Given the description of an element on the screen output the (x, y) to click on. 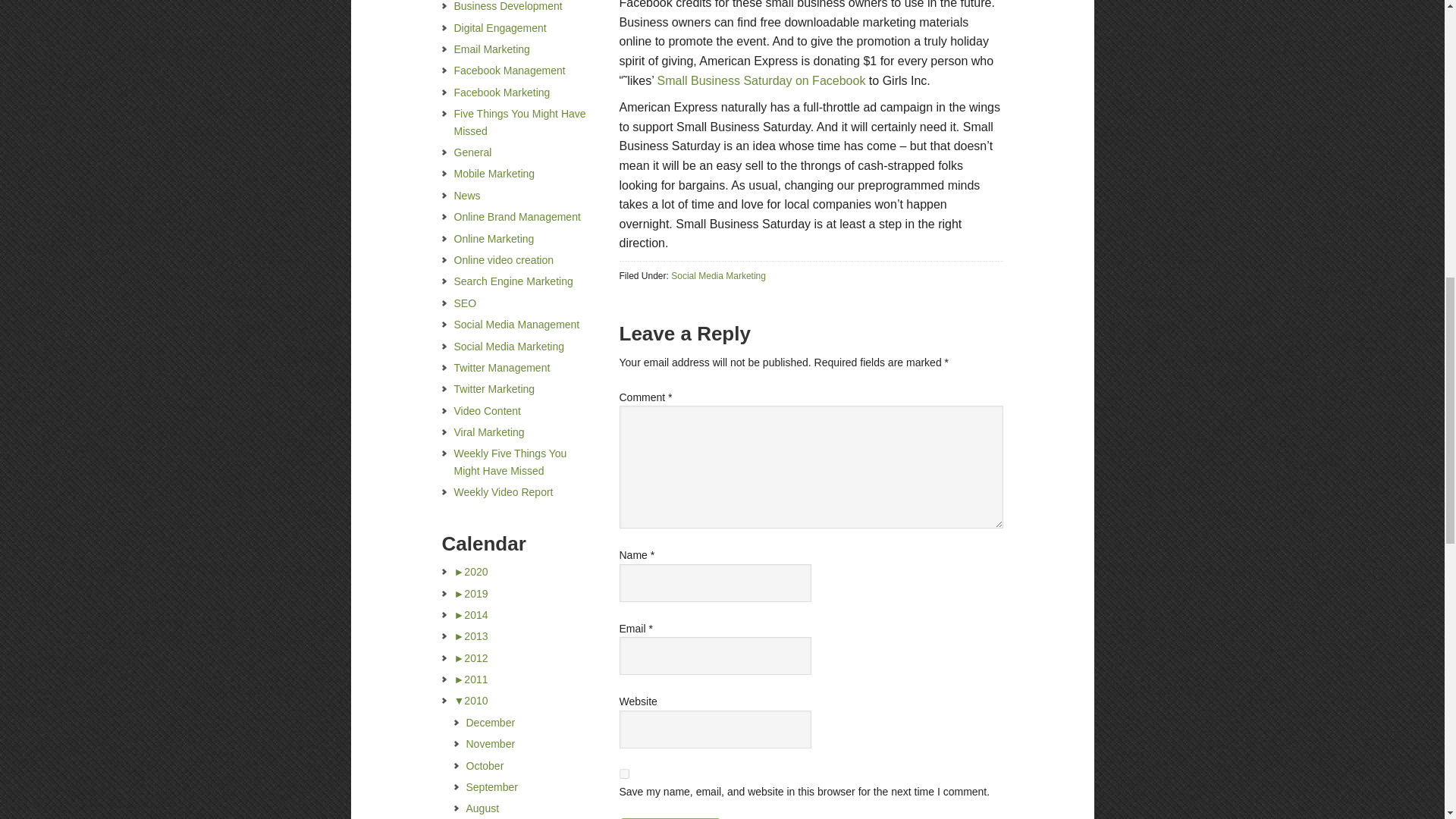
2014 (469, 614)
yes (623, 773)
Five Things You Might Have Missed (518, 121)
Social Media Marketing (718, 276)
Business Development (507, 6)
Mobile Marketing (493, 173)
General (472, 152)
Facebook Marketing (501, 92)
Small Business Saturday on Facebook (758, 80)
Facebook Management (508, 70)
Digital Engagement (499, 28)
Email Marketing (490, 49)
2020 (469, 571)
